Given the description of an element on the screen output the (x, y) to click on. 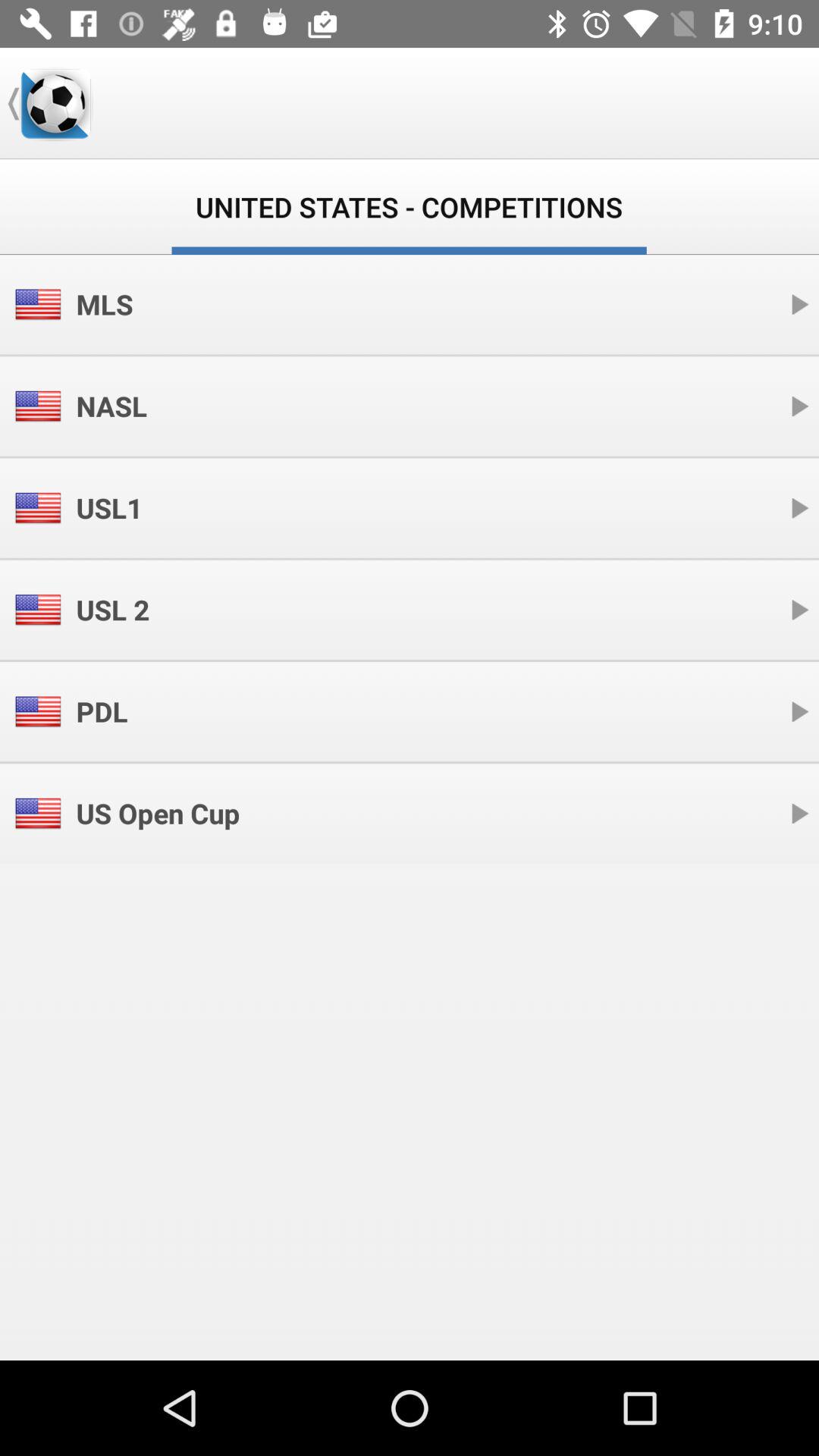
launch icon above the mls item (55, 103)
